Given the description of an element on the screen output the (x, y) to click on. 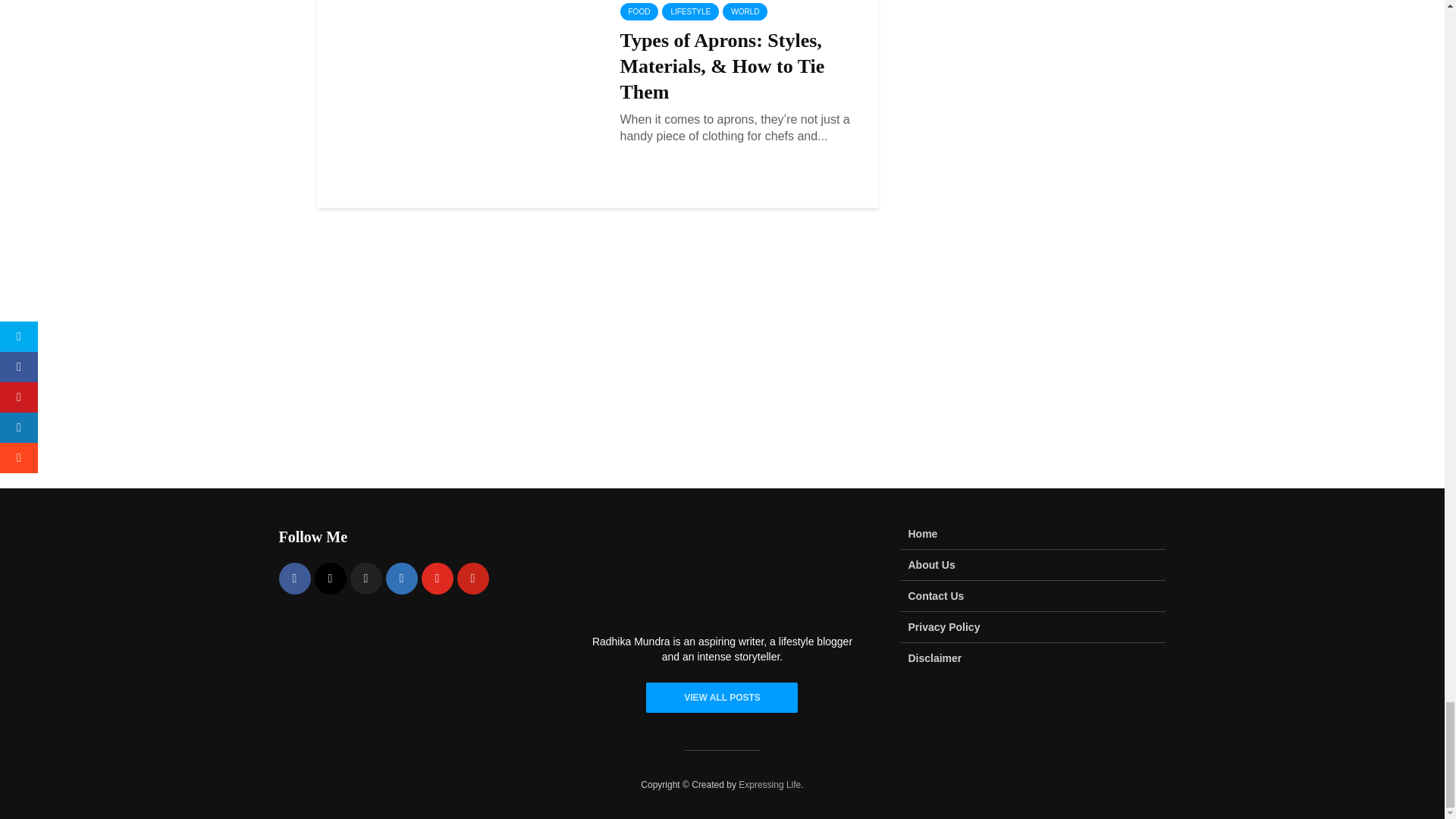
Pinterest (472, 578)
Facebook (295, 578)
Linkedin (400, 578)
YouTube (437, 578)
Instagram (330, 578)
